Given the description of an element on the screen output the (x, y) to click on. 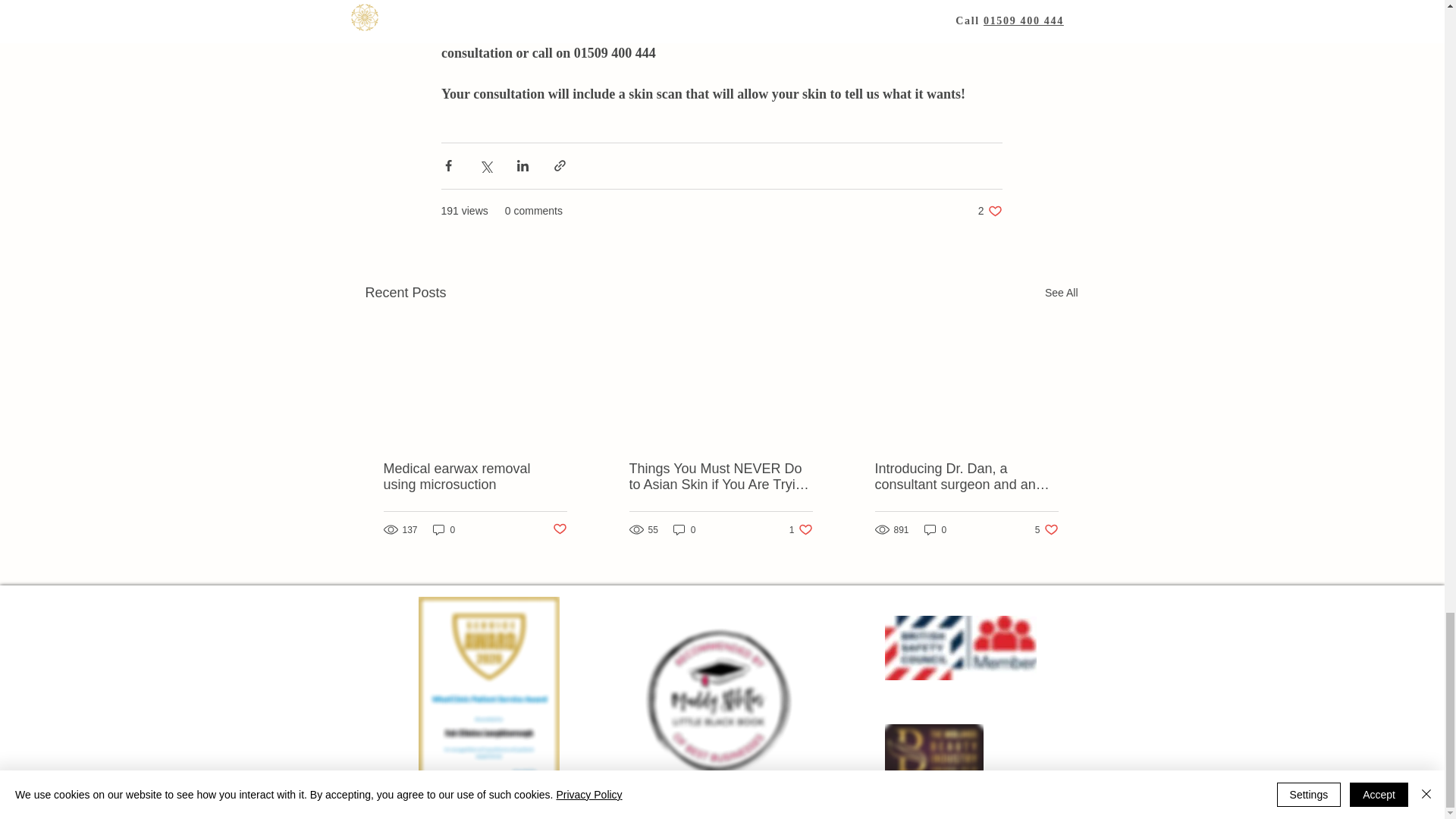
See All (1061, 292)
0 (936, 529)
Medical earwax removal using microsuction (475, 477)
0 (684, 529)
Post not marked as liked (558, 529)
0 (800, 529)
